Given the description of an element on the screen output the (x, y) to click on. 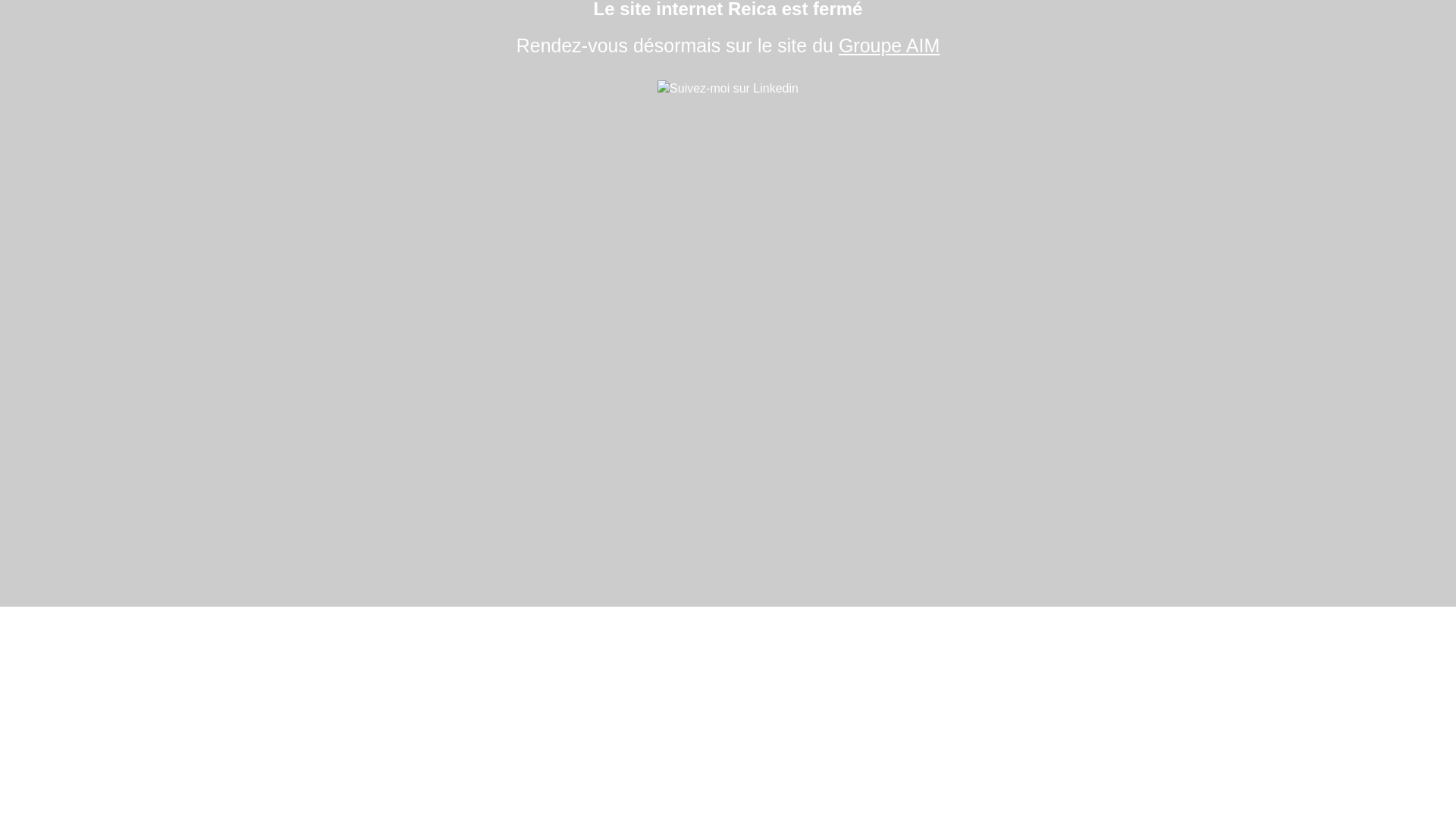
Suivez-moi sur Linkedin (727, 88)
Groupe AIM (888, 45)
